Given the description of an element on the screen output the (x, y) to click on. 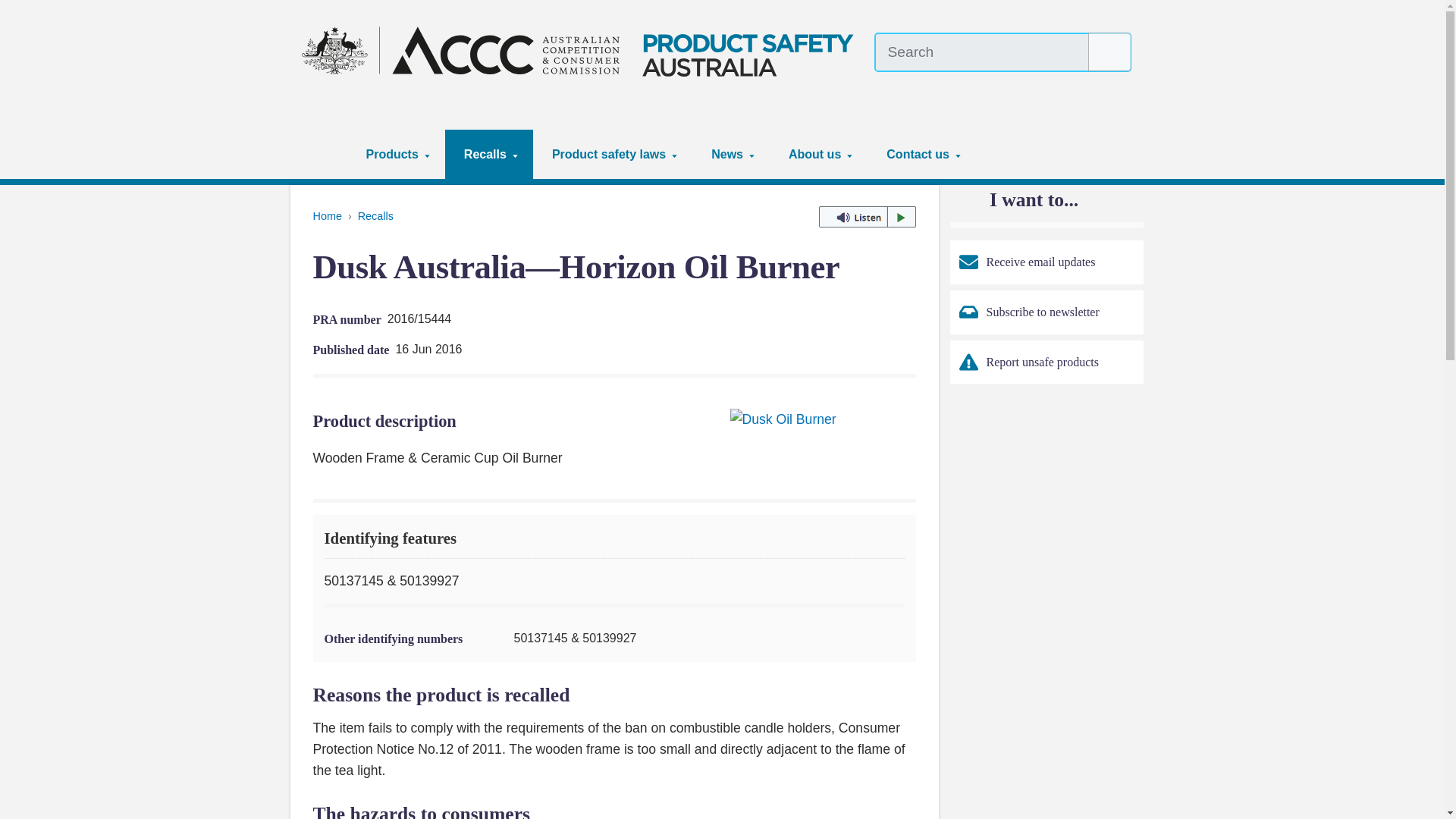
Product Safety Australia home (582, 49)
About website translation (1123, 87)
Products (396, 154)
Home (324, 154)
Listen to this page using ReadSpeaker (866, 216)
Search (1109, 51)
